Given the description of an element on the screen output the (x, y) to click on. 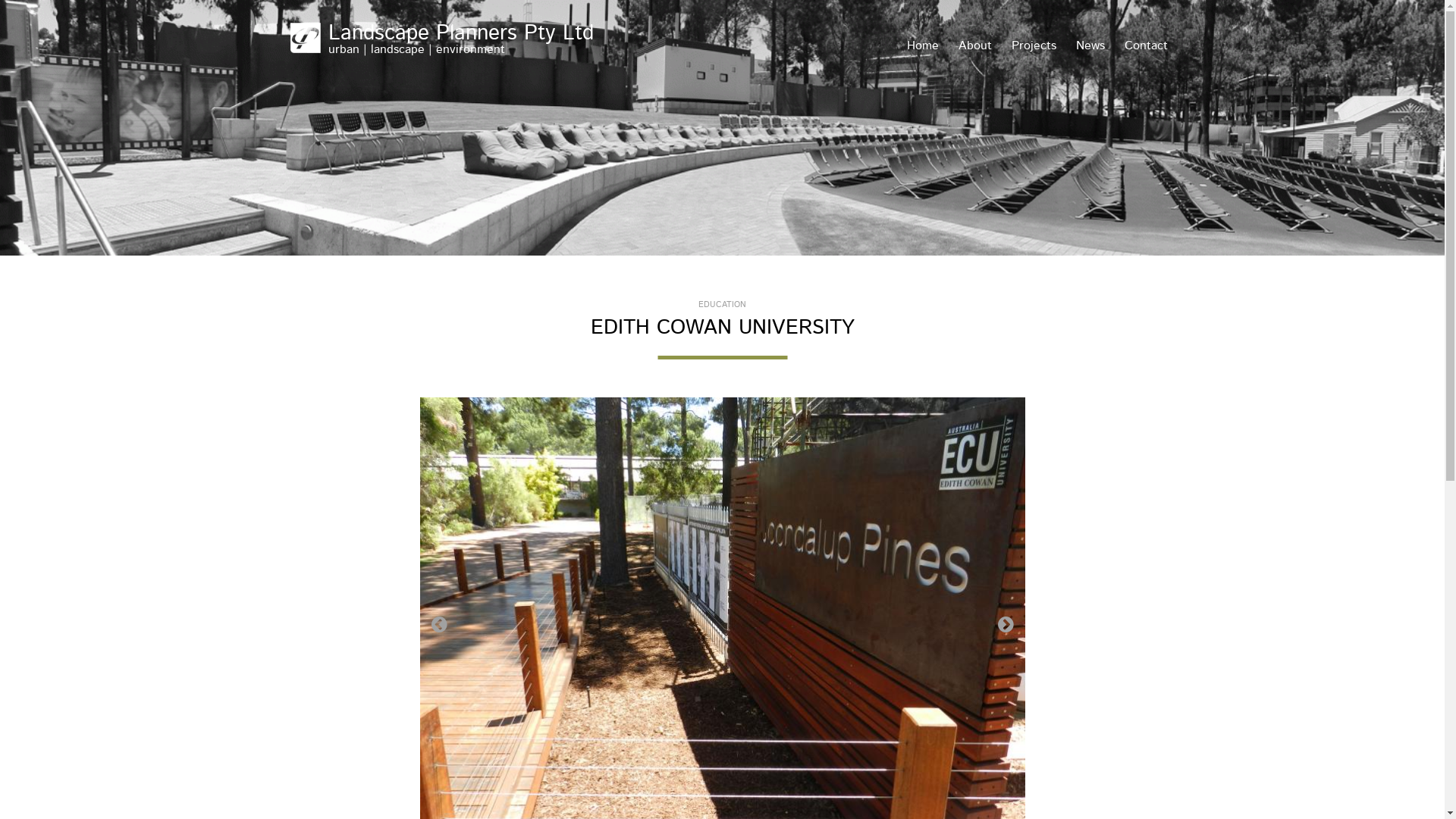
Home Element type: text (921, 46)
News Element type: text (1090, 46)
Skip to main content Element type: text (778, 0)
Landscape Planners Pty Ltd
urban | landscape | environment Element type: text (467, 39)
About Element type: text (973, 46)
Contact Element type: text (1145, 46)
Projects Element type: text (1033, 46)
